Given the description of an element on the screen output the (x, y) to click on. 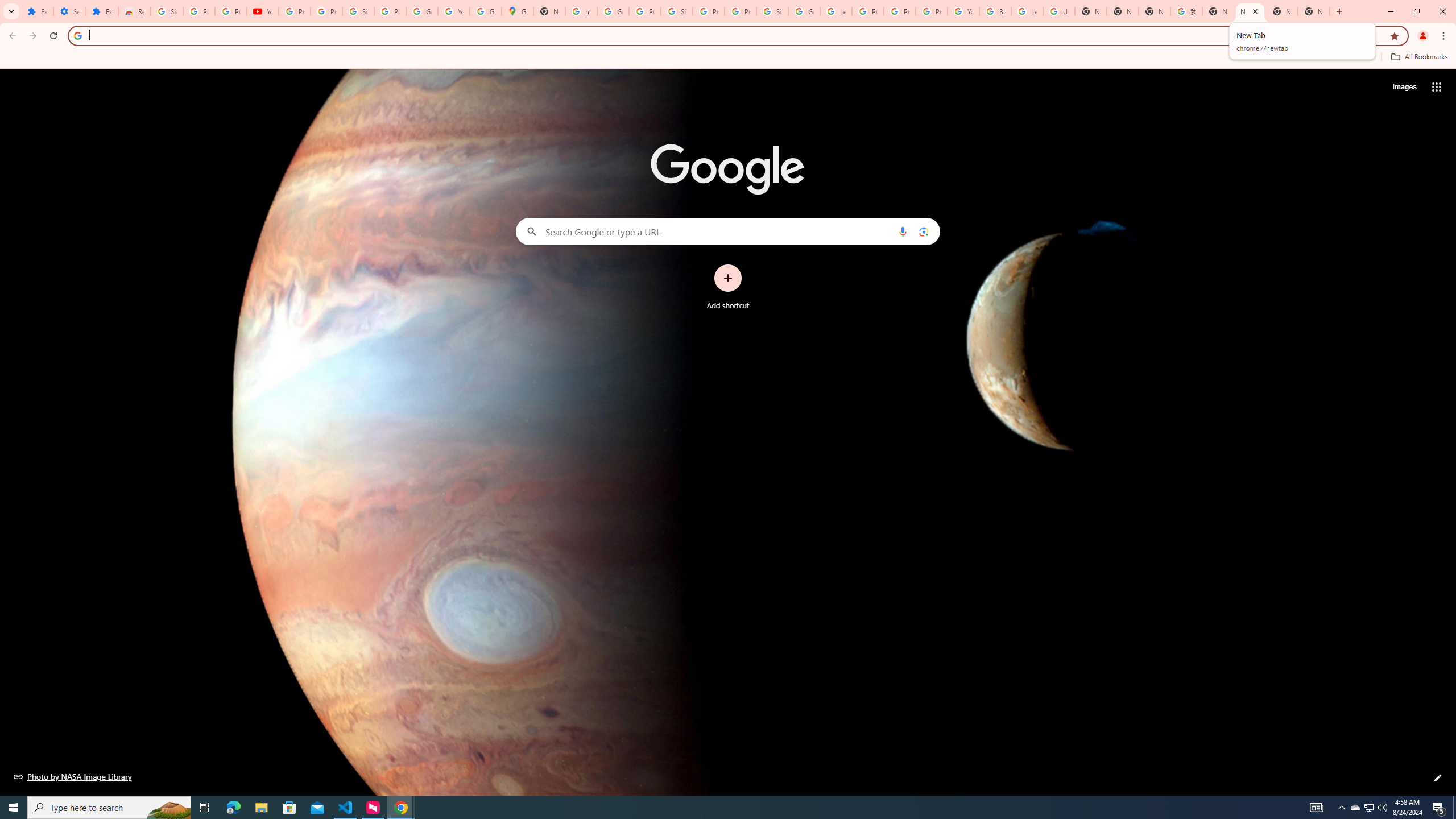
New Tab (1123, 11)
https://scholar.google.com/ (581, 11)
New Tab (1313, 11)
Extensions (37, 11)
YouTube (963, 11)
